Given the description of an element on the screen output the (x, y) to click on. 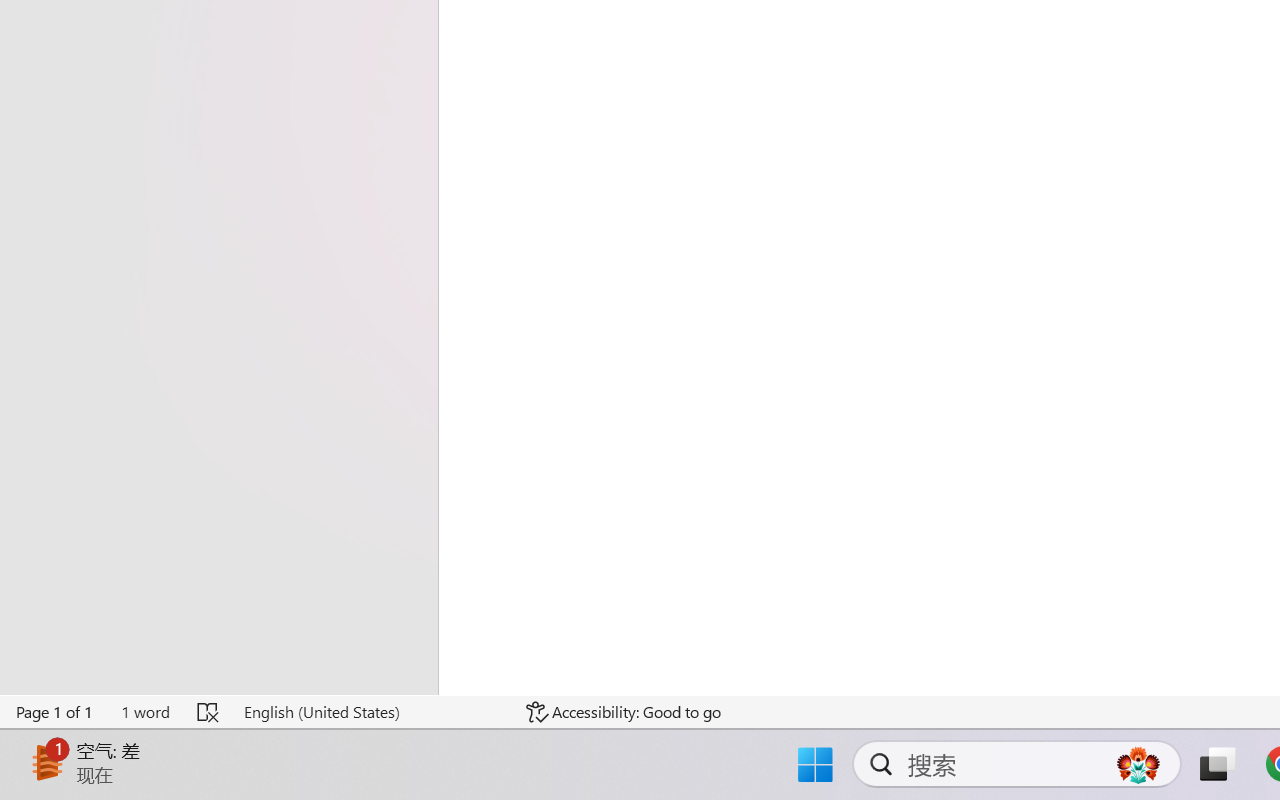
Spelling and Grammar Check Errors (208, 712)
